Given the description of an element on the screen output the (x, y) to click on. 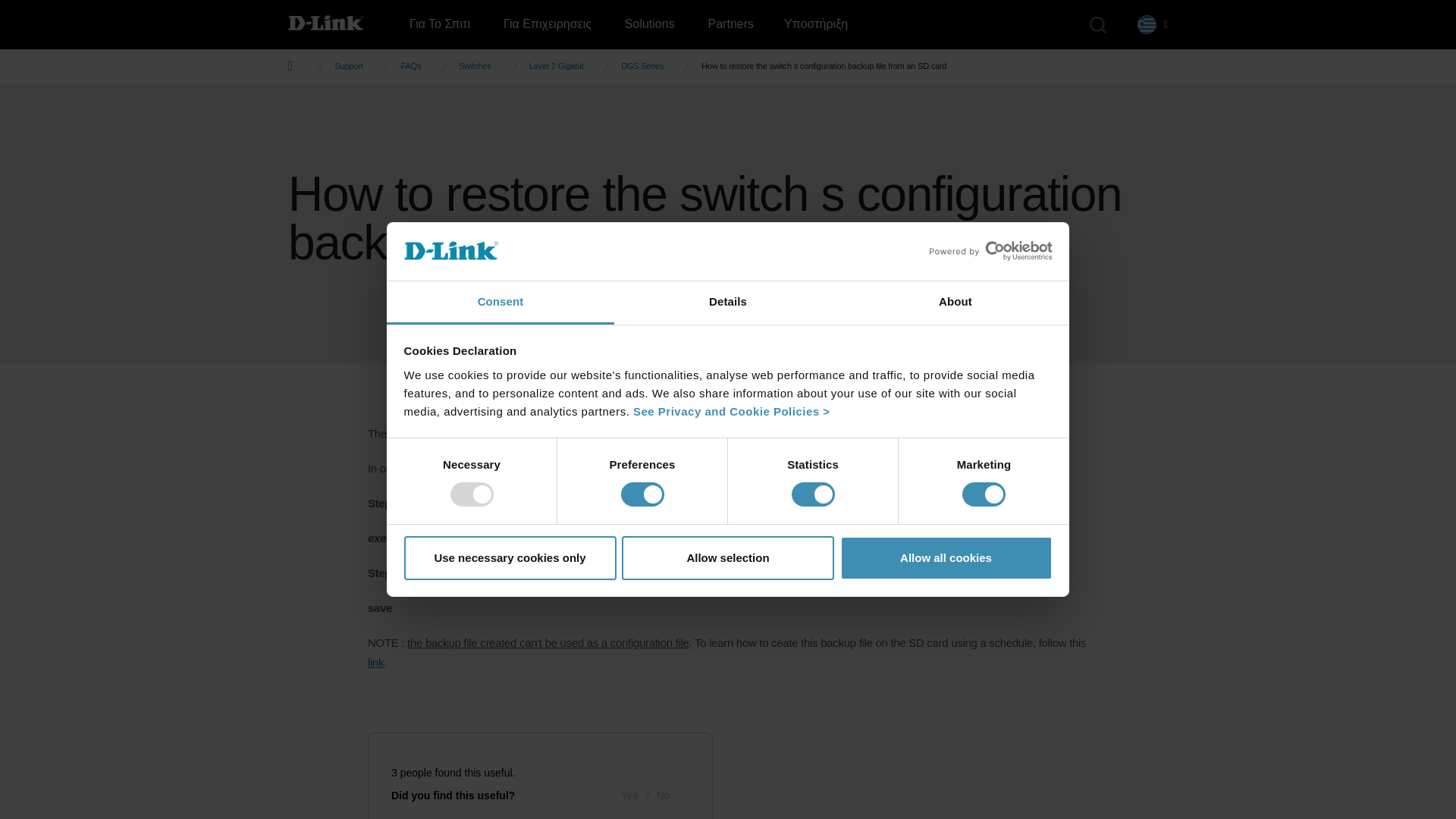
Details (727, 302)
About (954, 302)
Consent (500, 302)
Learn more about eu.dlink.com cookies (731, 410)
